Given the description of an element on the screen output the (x, y) to click on. 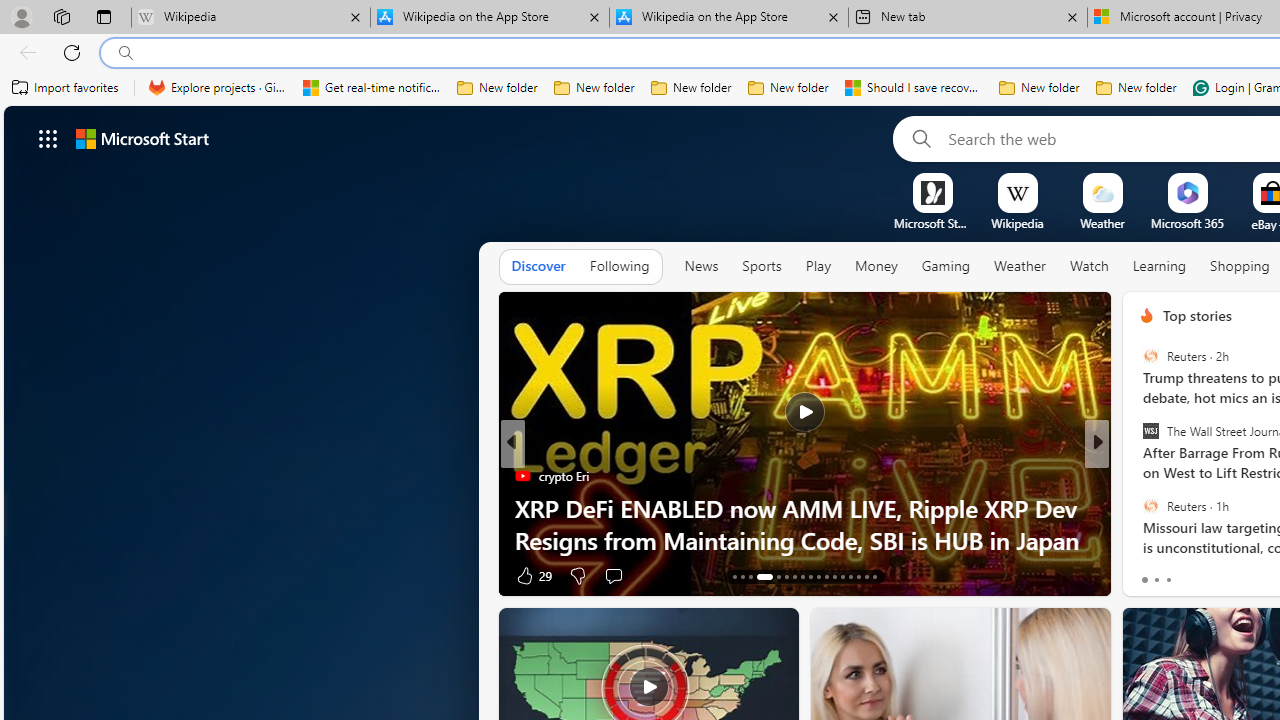
View comments 4 Comment (1229, 575)
10 Like (532, 574)
Reader's Digest (1138, 475)
Play (817, 265)
AutomationID: tab-29 (874, 576)
Import favorites (65, 88)
Sports (761, 265)
View comments 3 Comment (613, 575)
New folder (1136, 88)
To get missing image descriptions, open the context menu. (932, 192)
Brutal heat dome in Midwest sends temps into the upper 90s (804, 523)
34 Like (1149, 574)
News (701, 267)
News (701, 265)
